Given the description of an element on the screen output the (x, y) to click on. 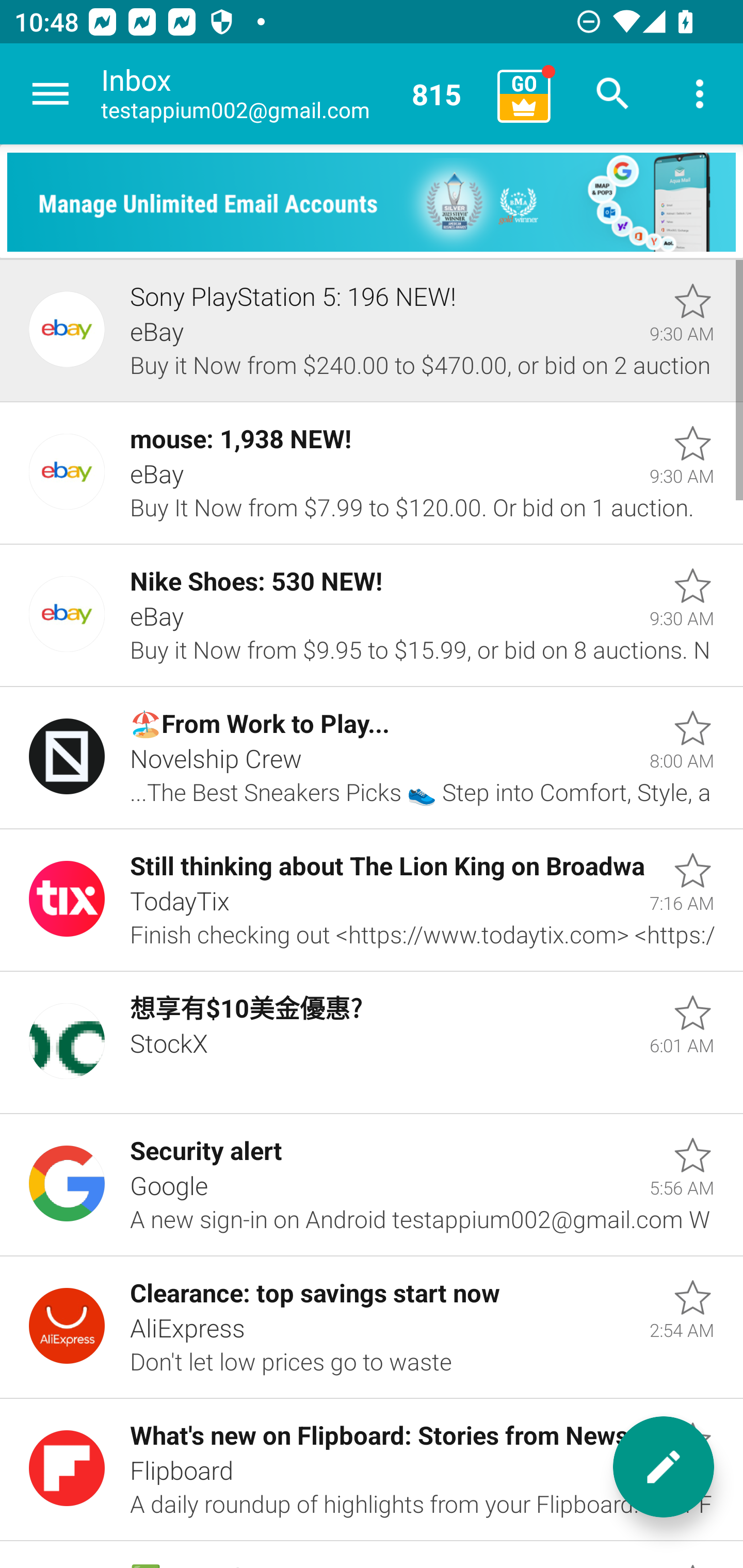
Navigate up (50, 93)
Inbox testappium002@gmail.com 815 (291, 93)
Search (612, 93)
More options (699, 93)
Unread, 想享有$10美金優惠?, StockX, 6:01 AM (371, 1043)
New message (663, 1466)
